Given the description of an element on the screen output the (x, y) to click on. 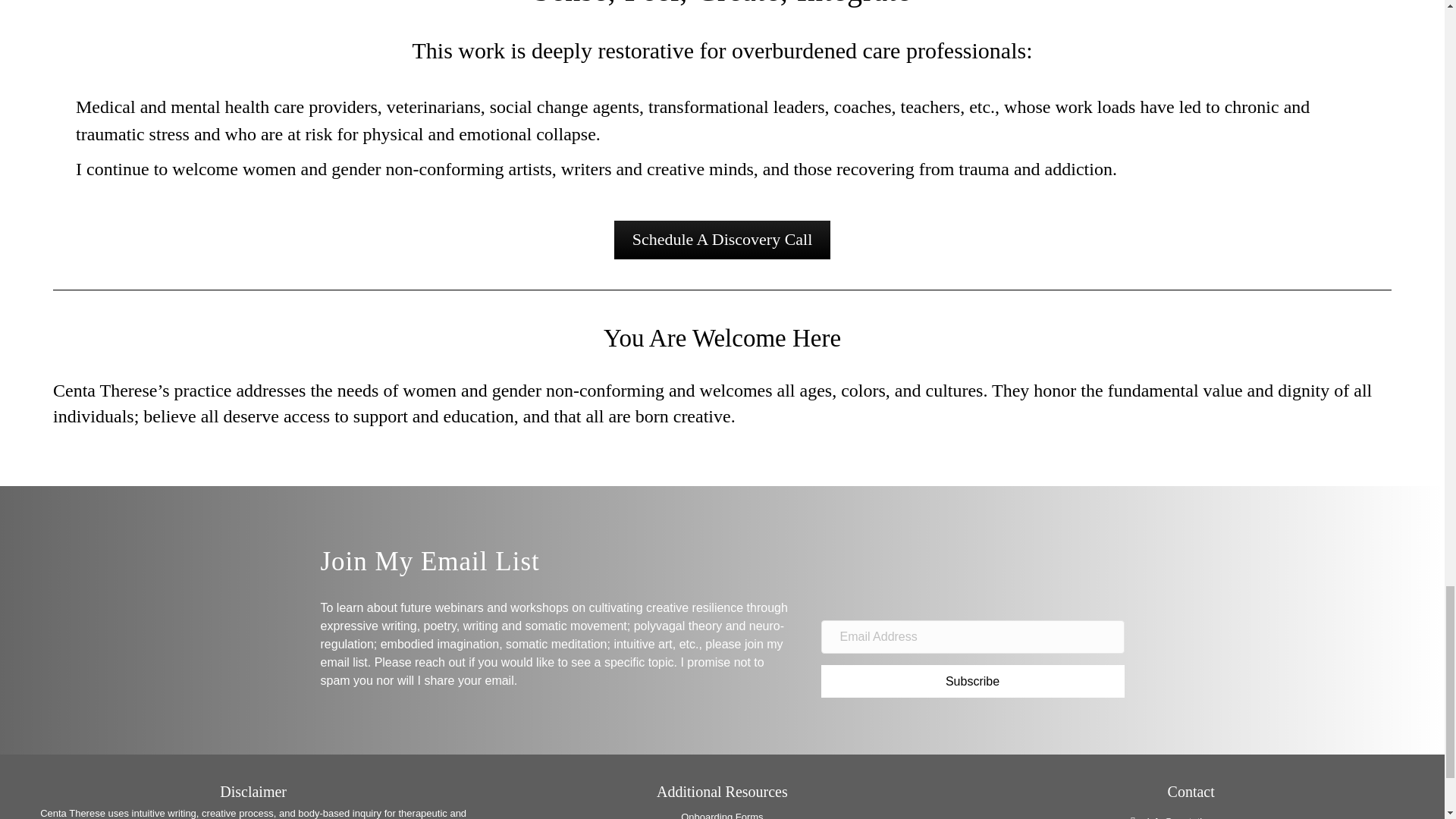
Schedule A Discovery Call (722, 239)
Subscribe (972, 681)
Onboarding Forms (721, 815)
